Given the description of an element on the screen output the (x, y) to click on. 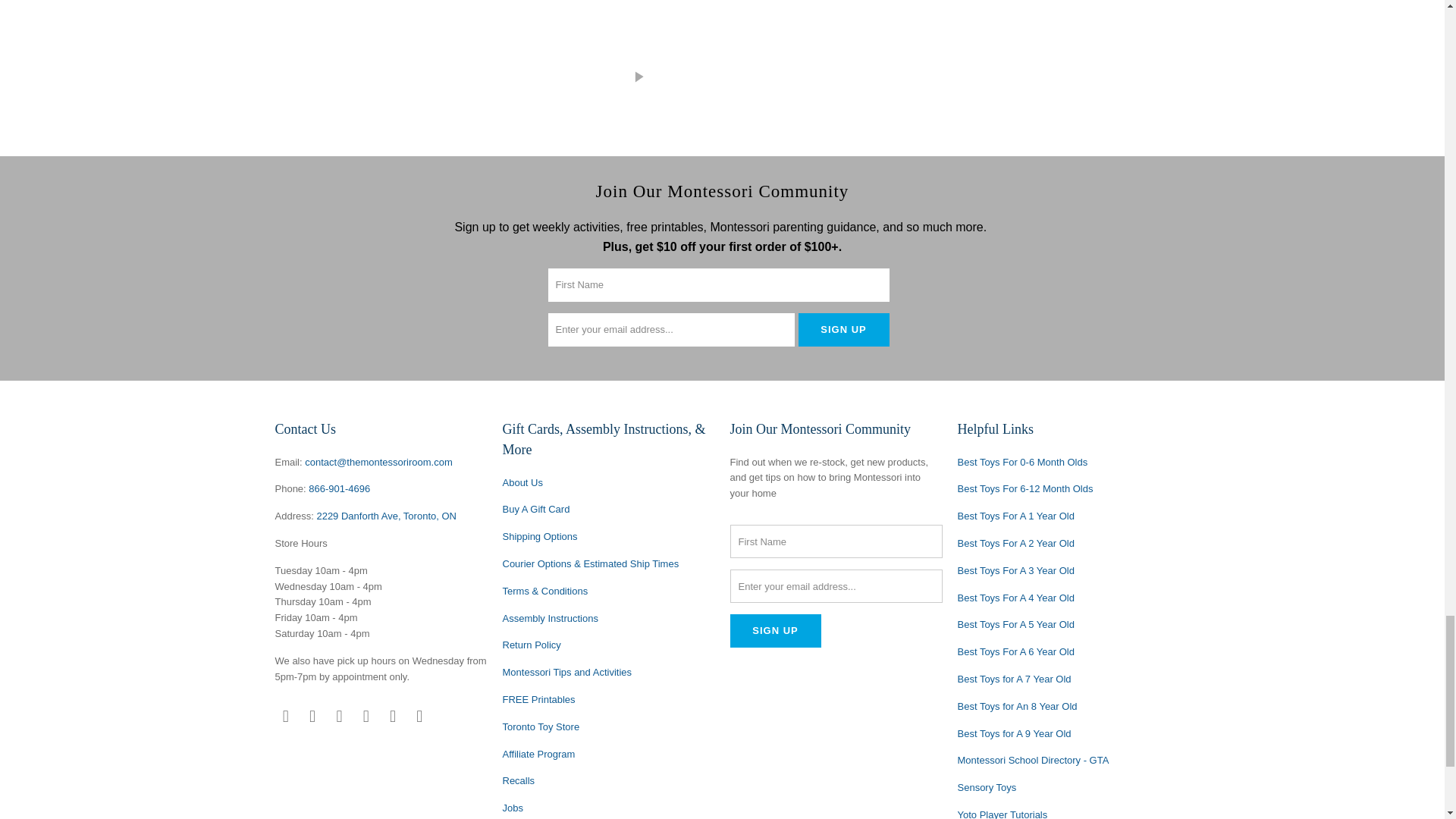
Sign Up (842, 329)
Sign Up (775, 630)
